Given the description of an element on the screen output the (x, y) to click on. 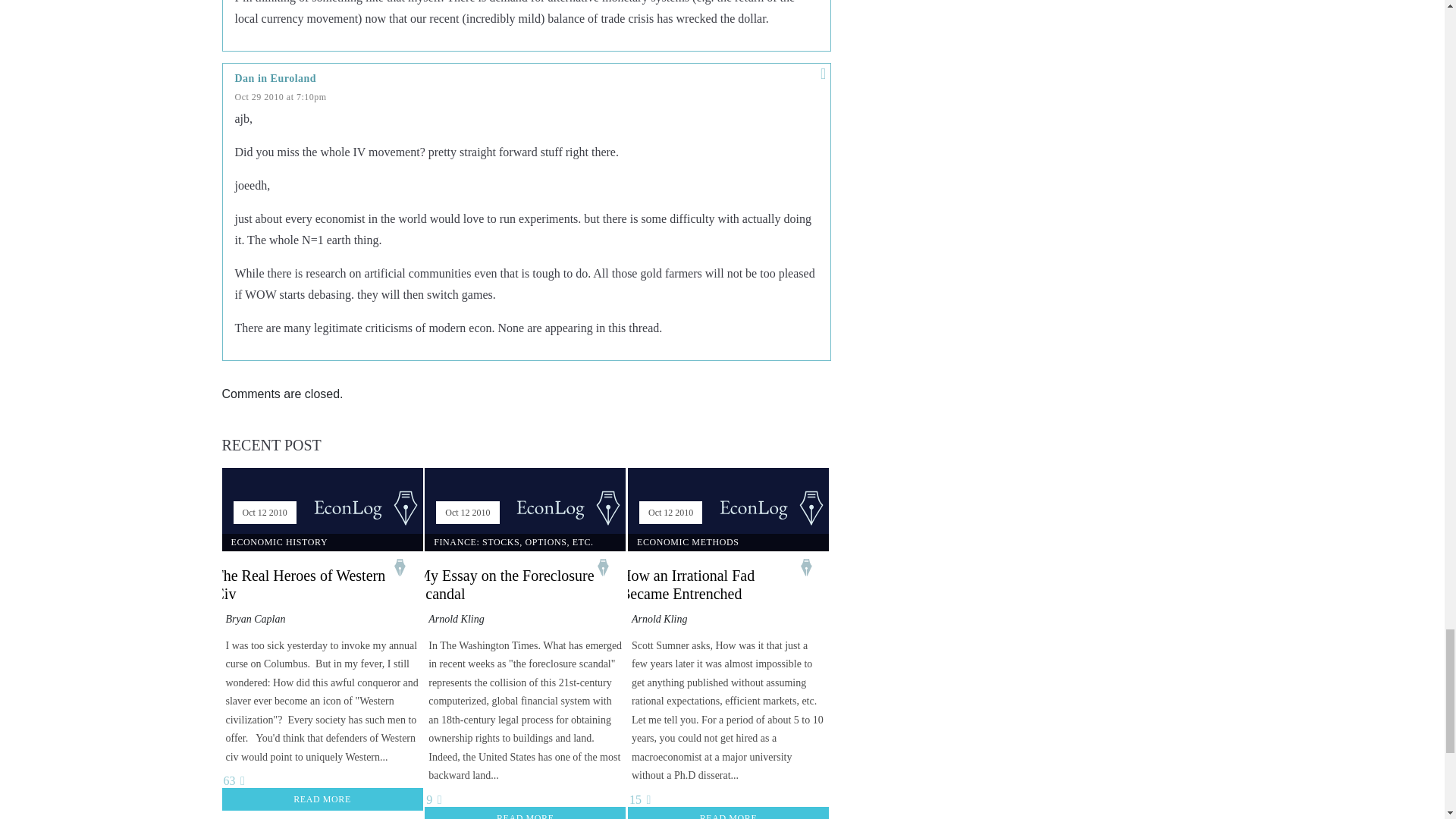
Arnold Kling (456, 618)
Bryan Caplan (255, 618)
Arnold Kling (659, 618)
